Given the description of an element on the screen output the (x, y) to click on. 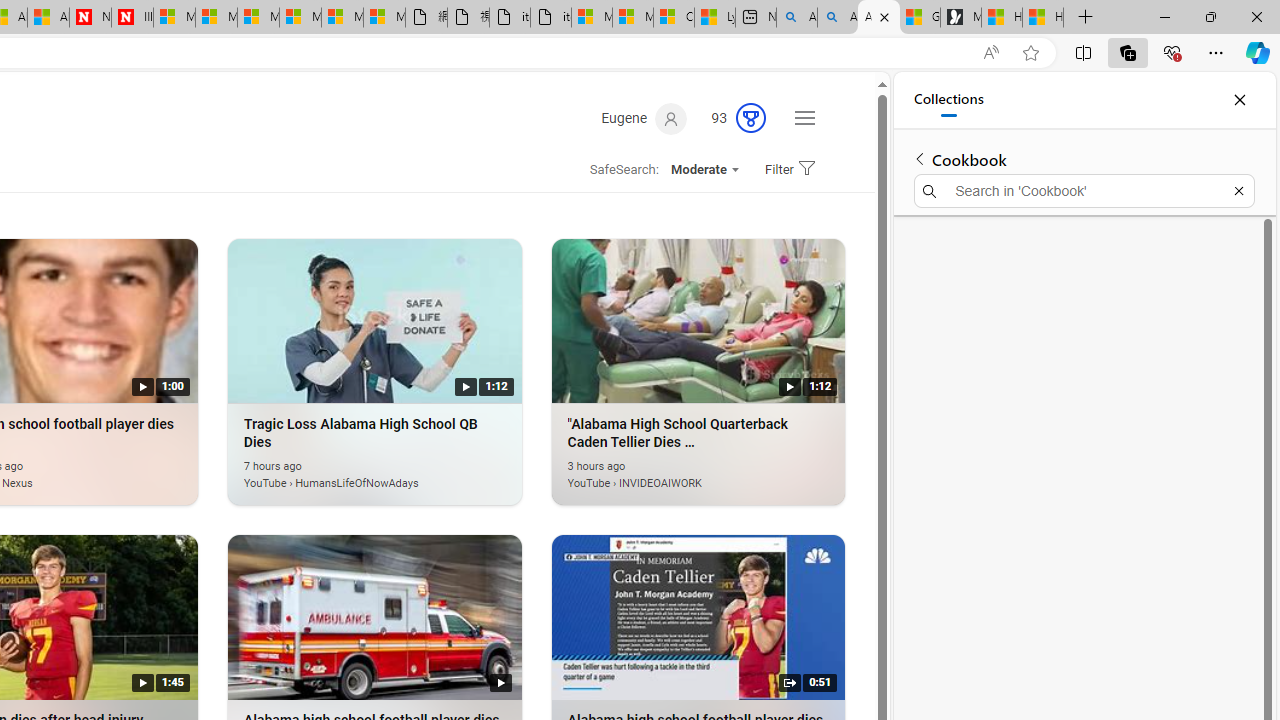
Newsweek - News, Analysis, Politics, Business, Technology (90, 17)
Filter (787, 169)
AutomationID: rh_meter (750, 117)
Microsoft Rewards 93 (730, 119)
